Given the description of an element on the screen output the (x, y) to click on. 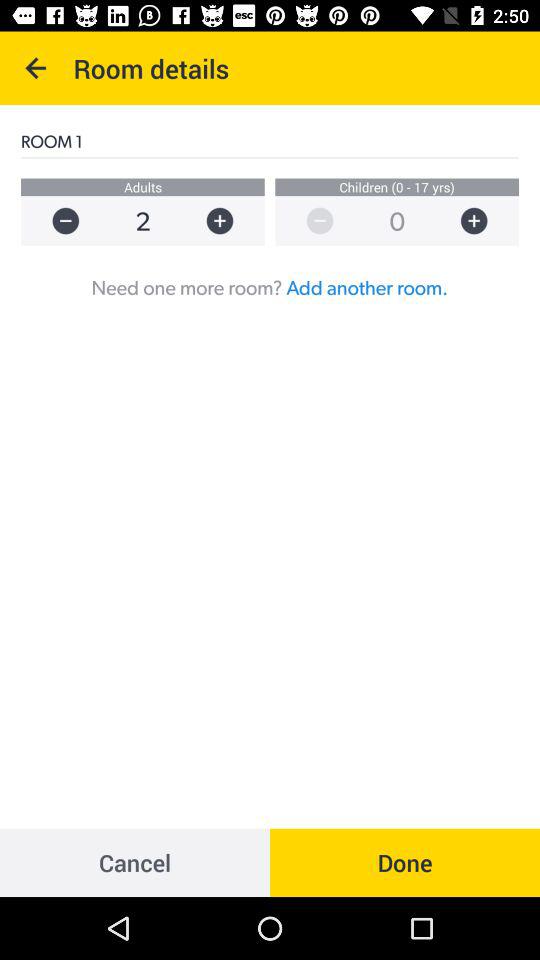
shows add icon (484, 220)
